Given the description of an element on the screen output the (x, y) to click on. 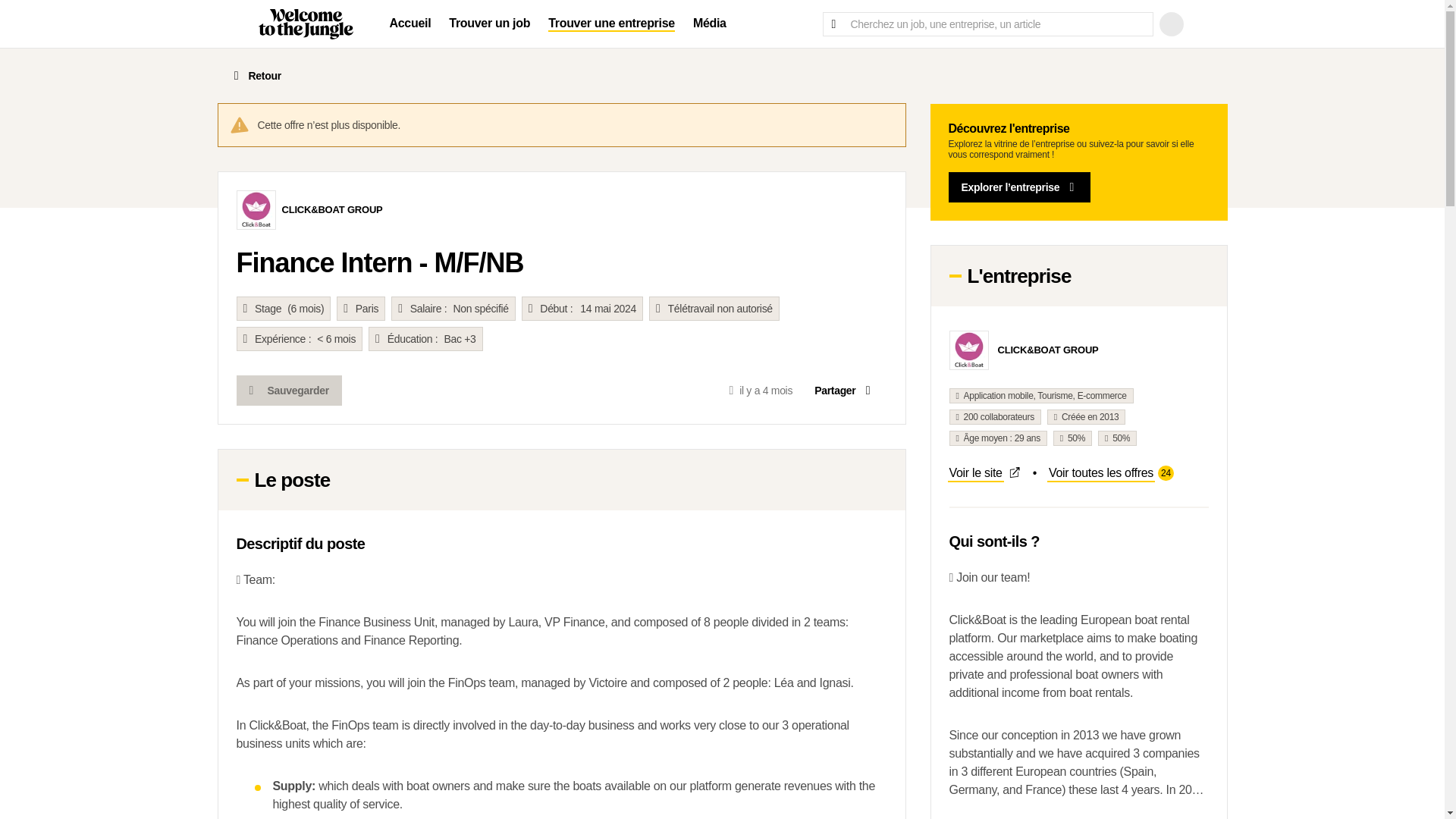
Trouver une entreprise (611, 23)
Trouver un job (488, 23)
Welcome to the Jungle (1110, 473)
Accueil (304, 24)
Partager (410, 23)
Voir le site (844, 390)
Sauvegarder (984, 473)
Retour (288, 390)
